Given the description of an element on the screen output the (x, y) to click on. 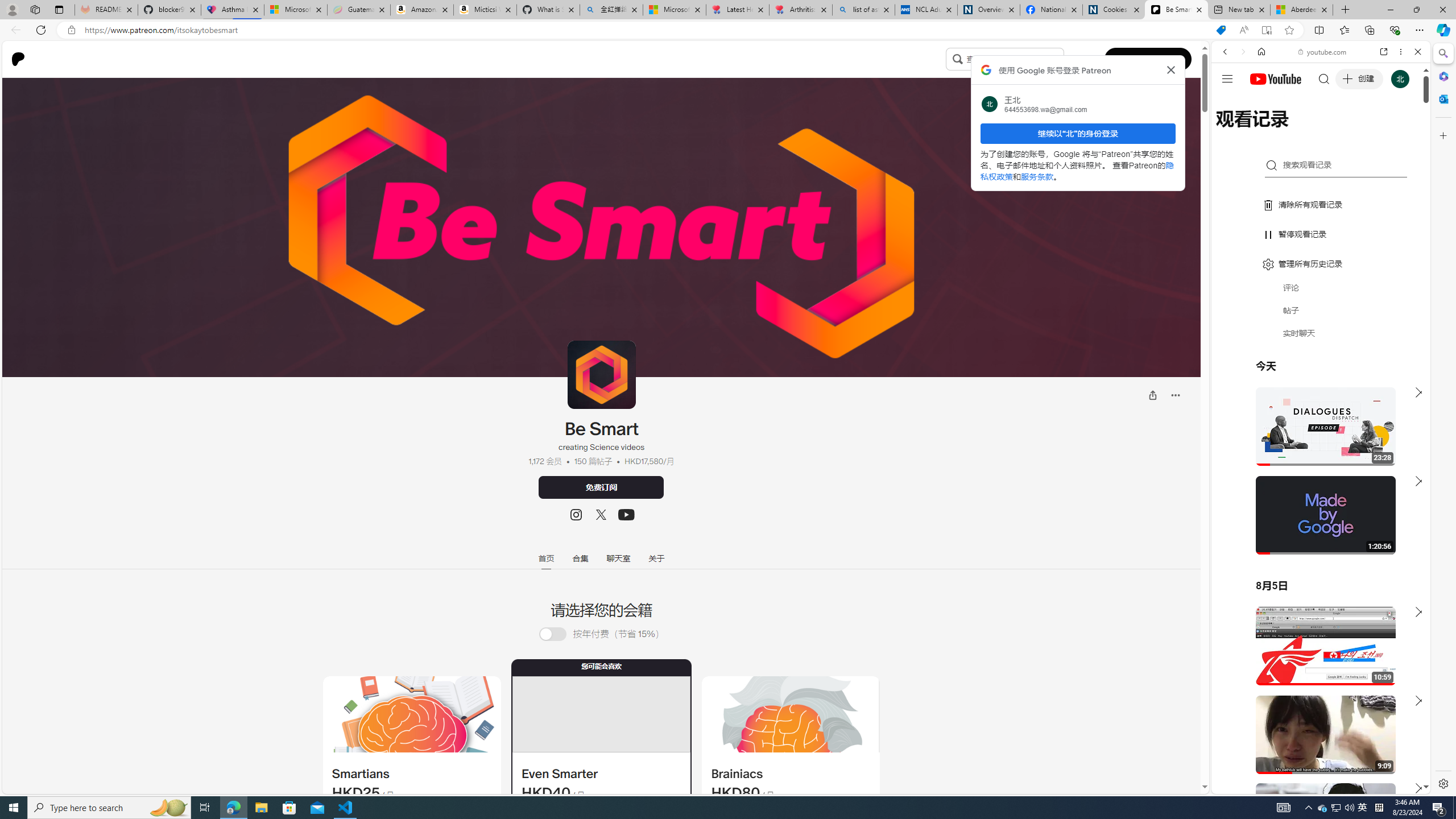
Class: sc-gUQvok bqiJlM (1061, 58)
Loading (558, 633)
youtube.com (1322, 51)
